Given the description of an element on the screen output the (x, y) to click on. 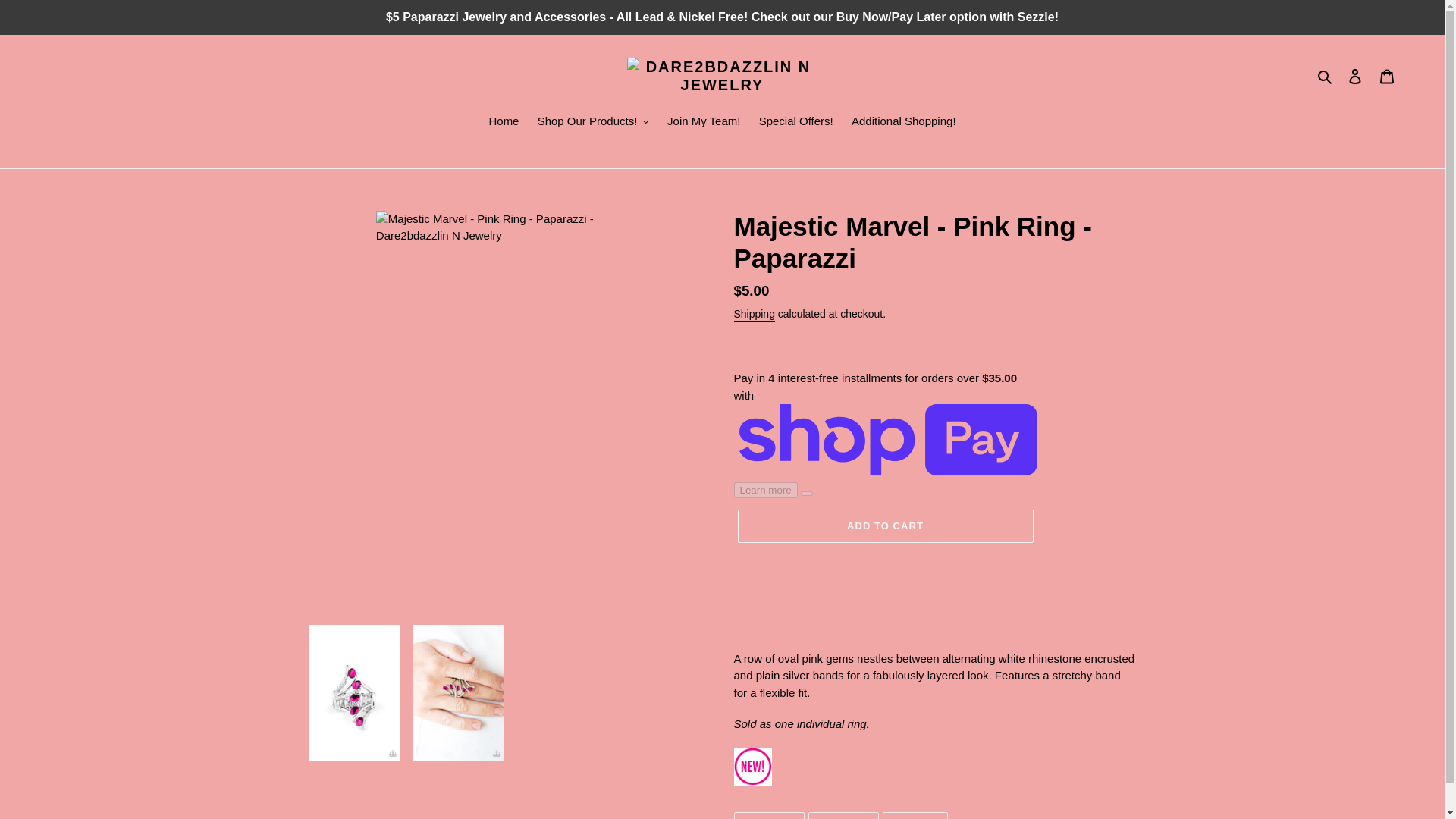
Cart (1387, 75)
Home (502, 122)
Shop Our Products! (592, 122)
Log in (1355, 75)
Search (1326, 75)
